Given the description of an element on the screen output the (x, y) to click on. 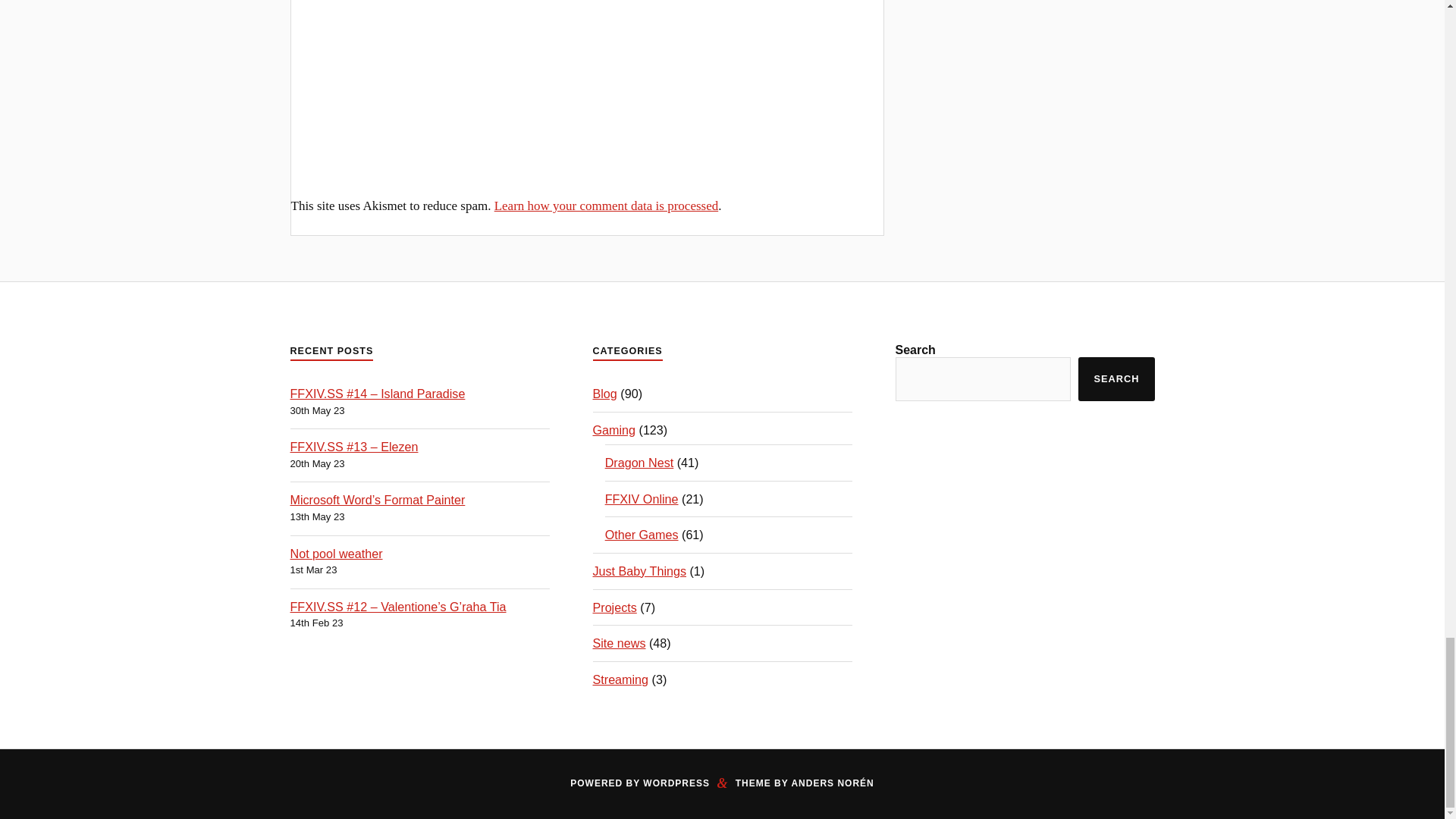
Learn how your comment data is processed (607, 205)
Comment Form (587, 73)
